Given the description of an element on the screen output the (x, y) to click on. 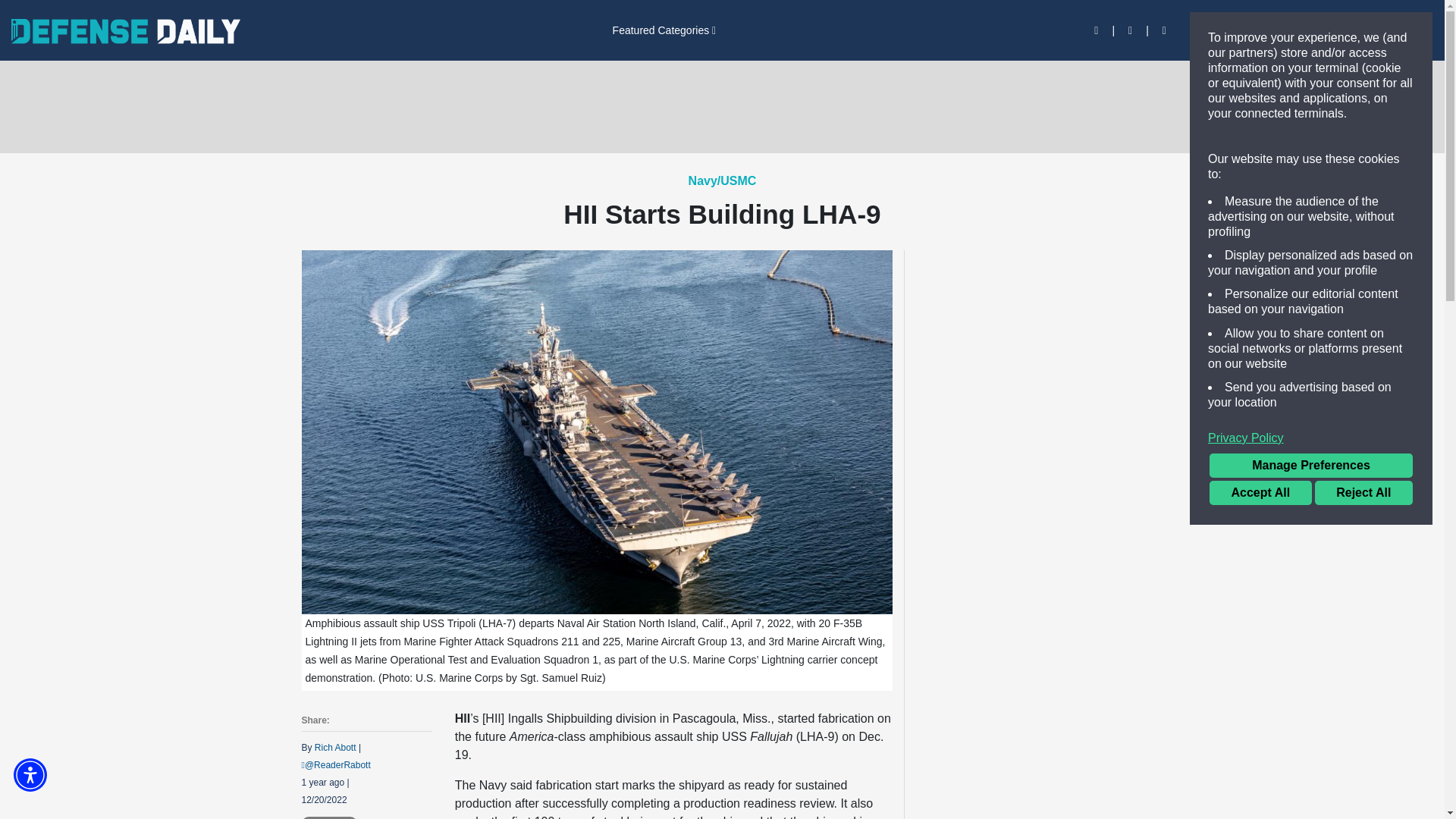
Reject All (1363, 492)
Signup (1257, 30)
Privacy Policy (1310, 437)
Accept All (1260, 492)
Accessibility Menu (29, 774)
Manage Preferences (1310, 465)
